Given the description of an element on the screen output the (x, y) to click on. 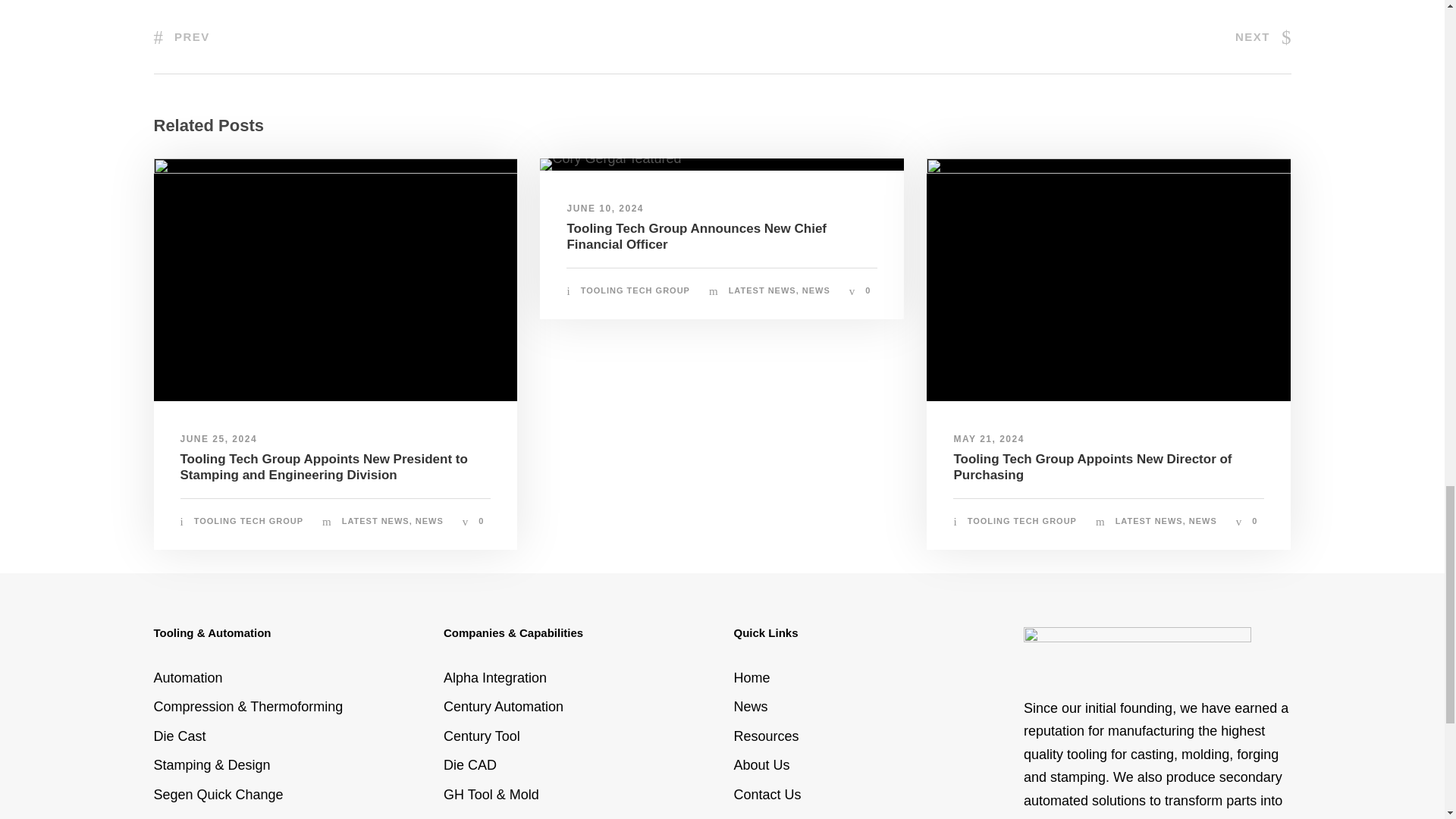
Posts by Tooling Tech Group (635, 289)
Posts by Tooling Tech Group (1022, 520)
Posts by Tooling Tech Group (247, 520)
JasonSmalarz-featured (334, 279)
Cory Gergar featured (610, 164)
DanCollings-featured (1108, 279)
